Given the description of an element on the screen output the (x, y) to click on. 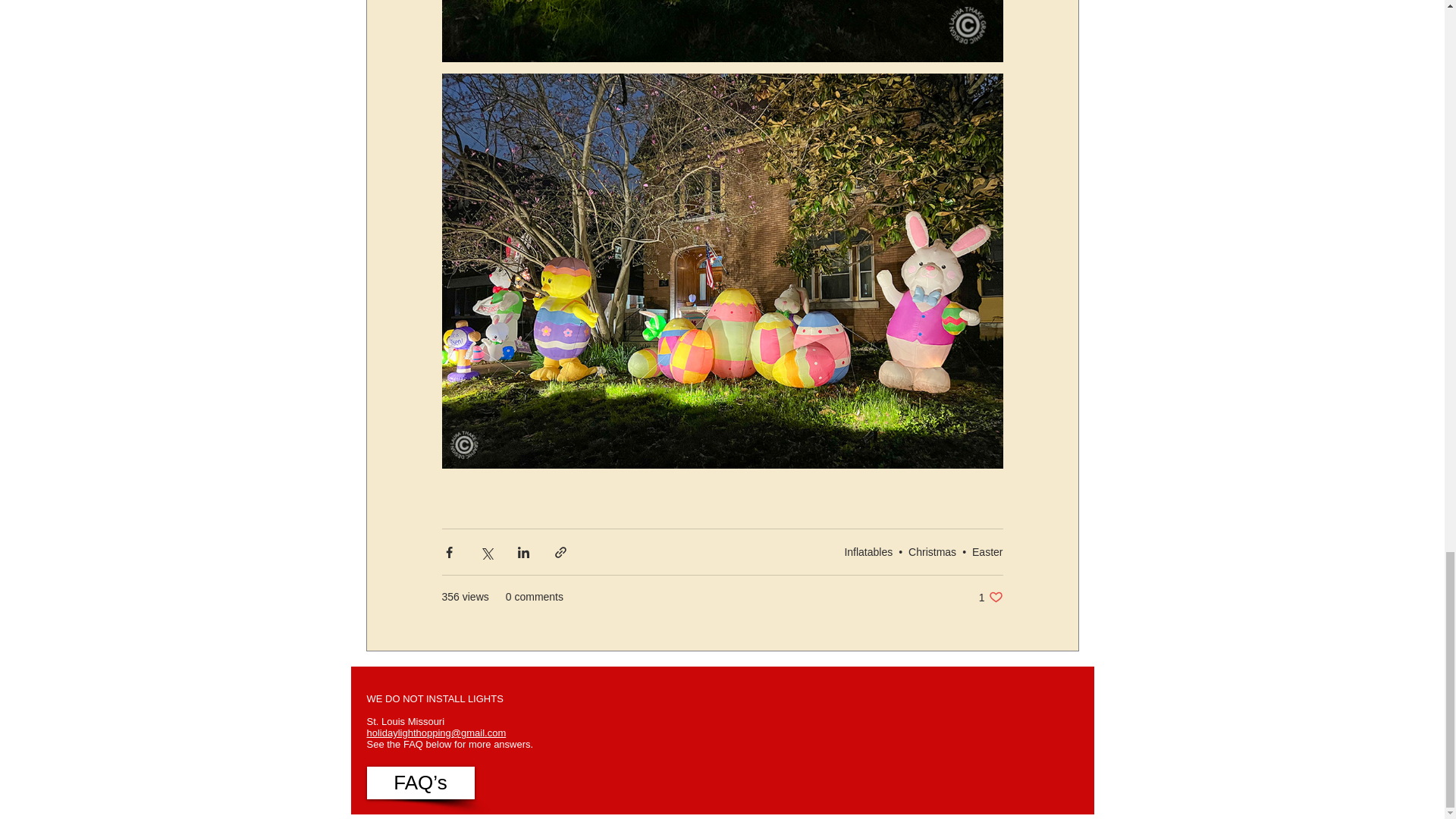
Inflatables (868, 551)
Christmas (990, 596)
Easter (932, 551)
